Given the description of an element on the screen output the (x, y) to click on. 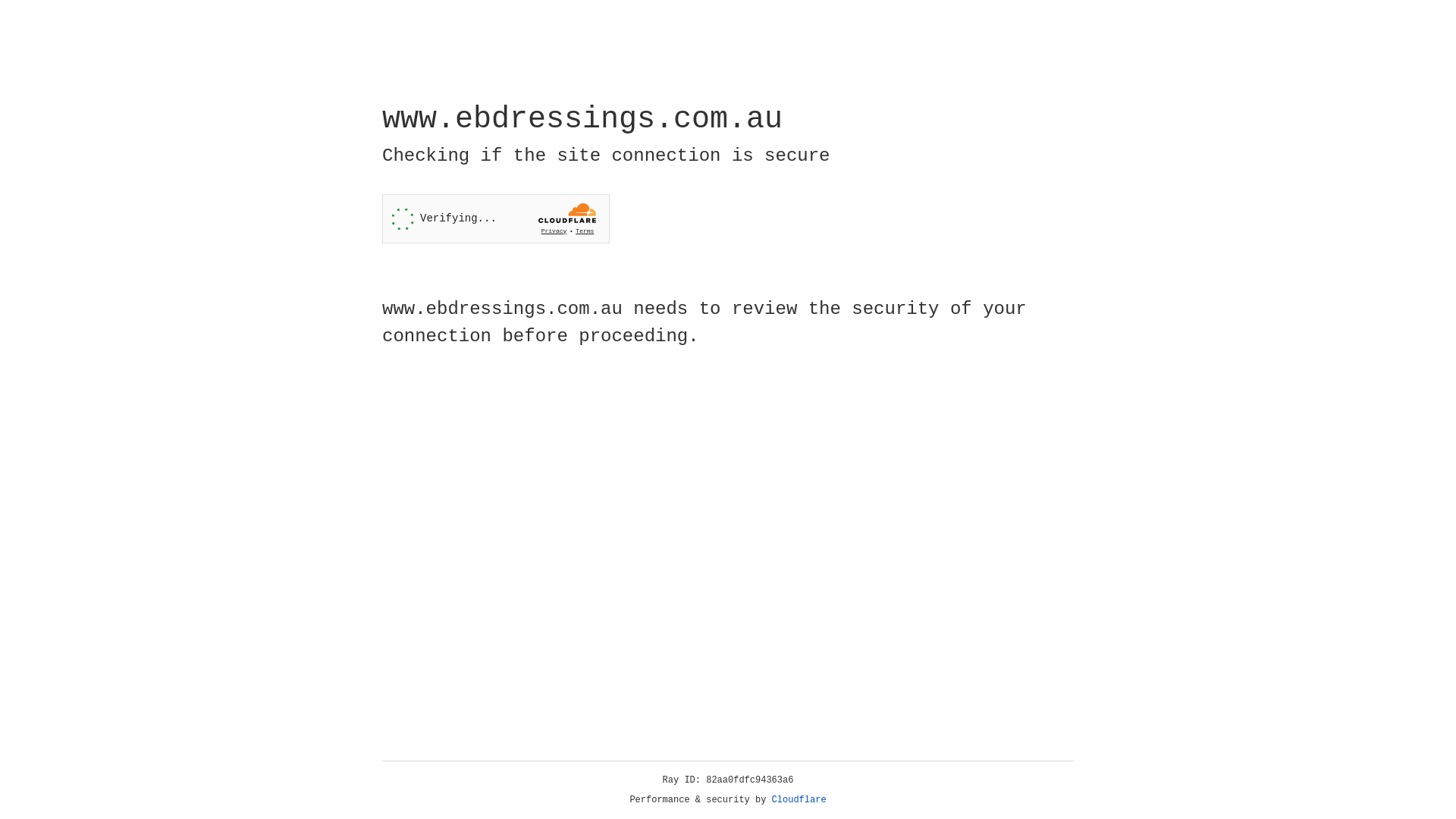
Widget containing a Cloudflare security challenge Element type: hover (495, 218)
Cloudflare Element type: text (798, 799)
